Given the description of an element on the screen output the (x, y) to click on. 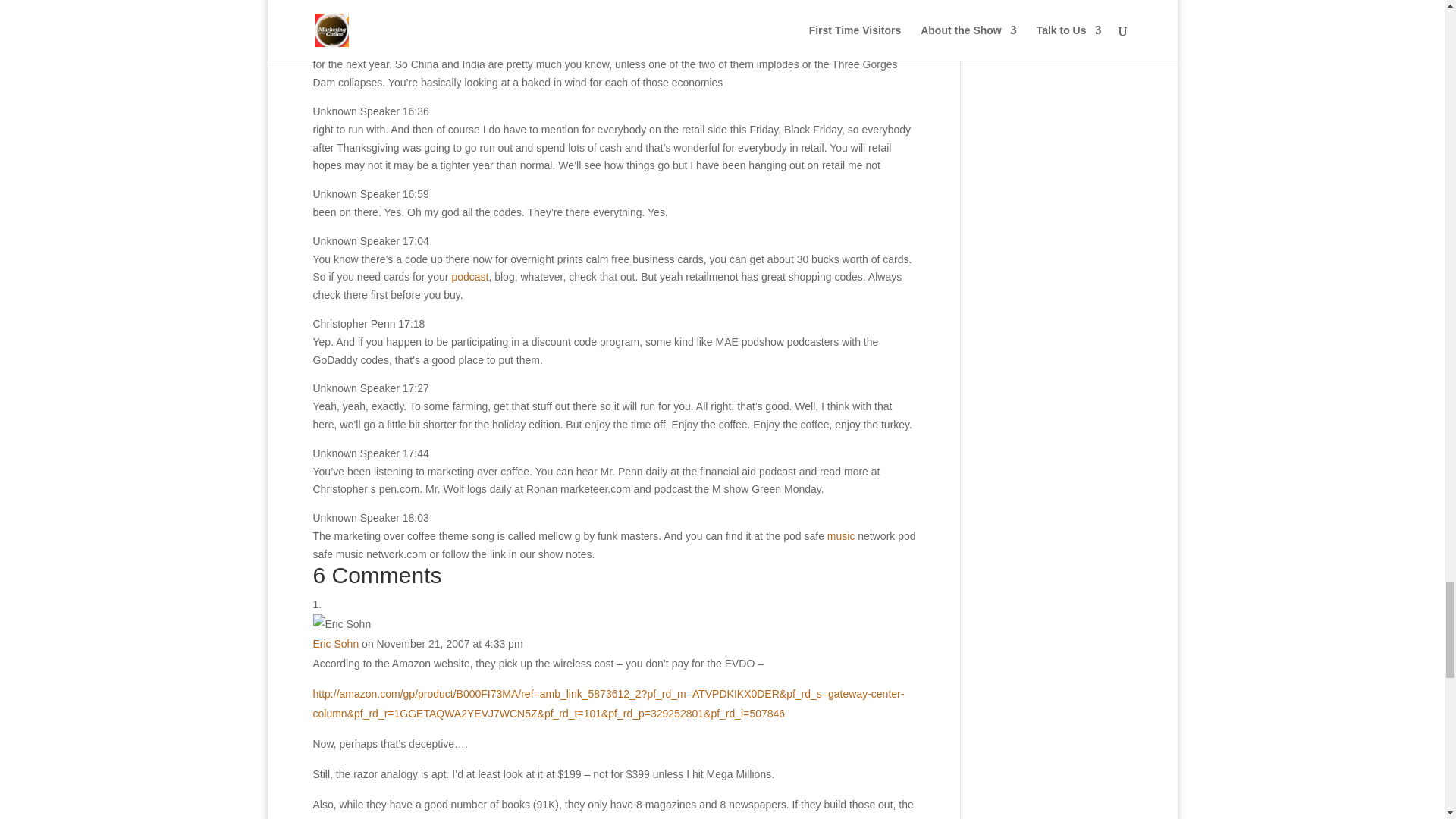
Eric Sohn (335, 644)
podcast (469, 276)
music (841, 535)
